Given the description of an element on the screen output the (x, y) to click on. 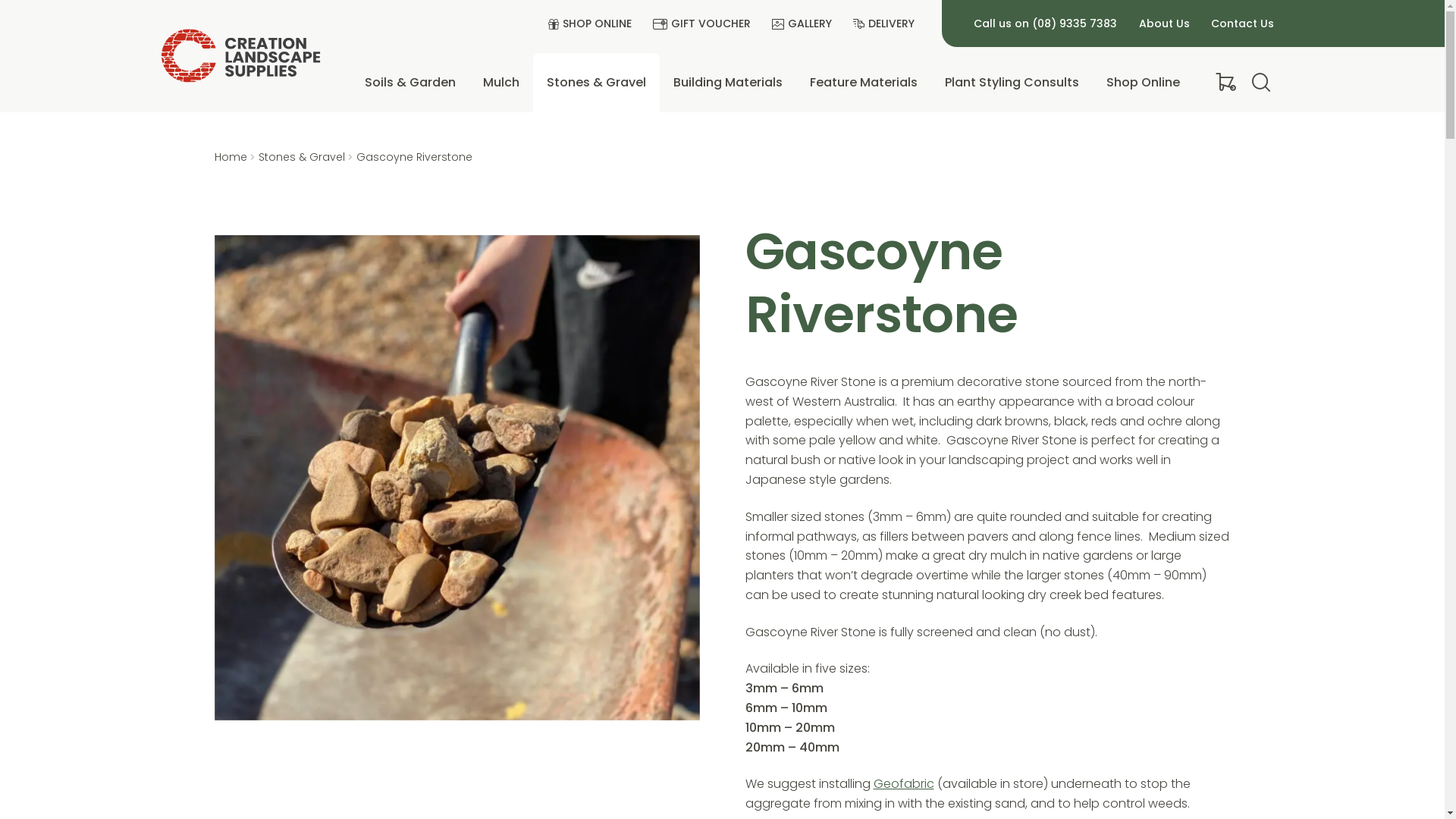
GIFT VOUCHER Element type: text (706, 23)
Building Materials Element type: text (727, 82)
Home Element type: text (229, 156)
Stones & Gravel Element type: text (596, 82)
SHOP ONLINE Element type: text (594, 23)
Soils & Garden Element type: text (410, 82)
View your shopping cart Element type: hover (1220, 82)
Search Element type: text (160, 126)
Plant Styling Consults Element type: text (1011, 82)
Call us on (08) 9335 7383 Element type: text (1045, 23)
Feature Materials Element type: text (863, 82)
Shop Online Element type: text (1142, 82)
About Us Element type: text (1164, 23)
Geofabric Element type: text (903, 783)
DELIVERY Element type: text (888, 23)
Mulch Element type: text (501, 82)
Contact Us Element type: text (1242, 23)
Stones & Gravel Element type: text (301, 156)
GALLERY Element type: text (806, 23)
